Given the description of an element on the screen output the (x, y) to click on. 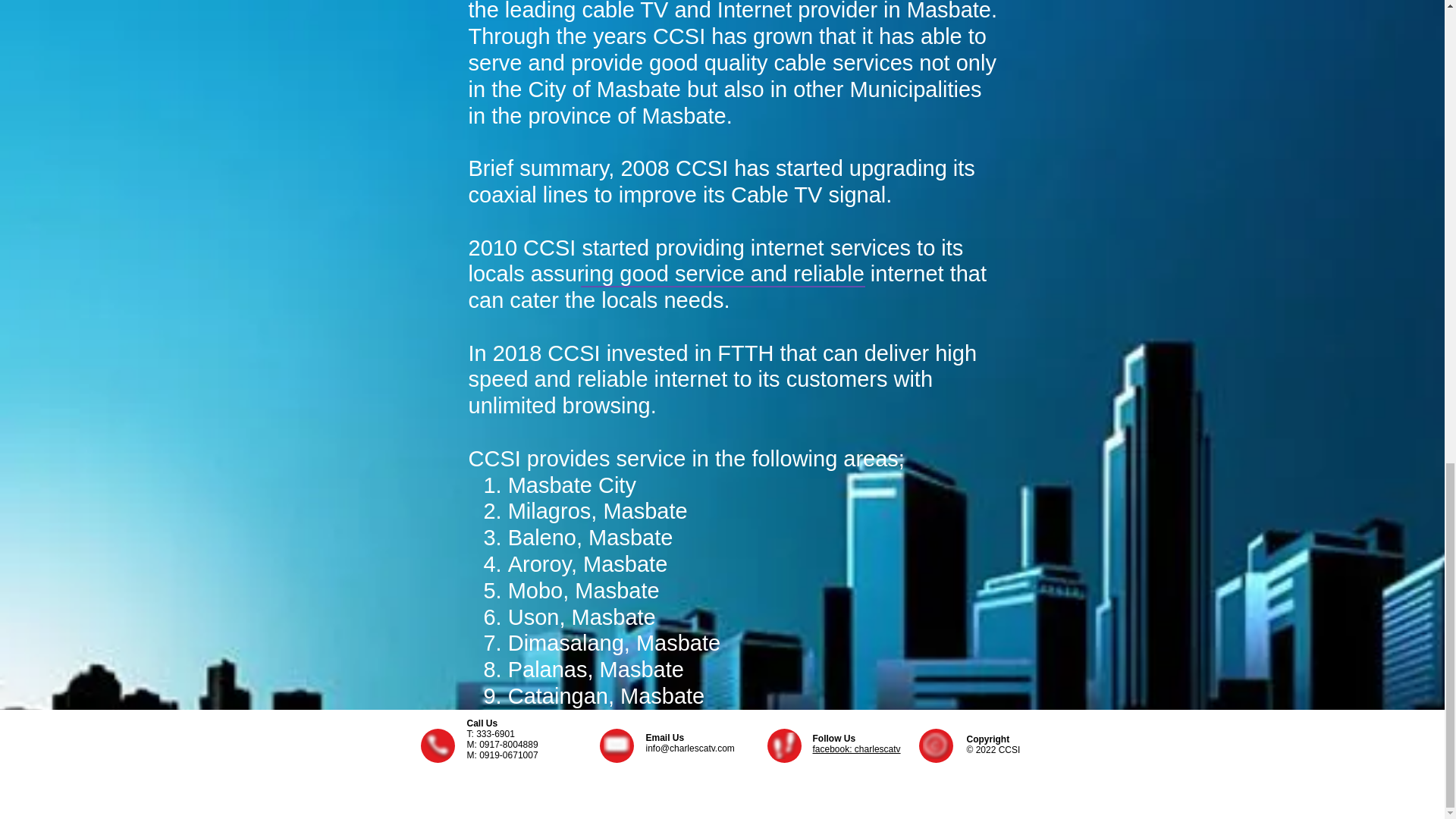
facebook: charlescatv (856, 748)
